Given the description of an element on the screen output the (x, y) to click on. 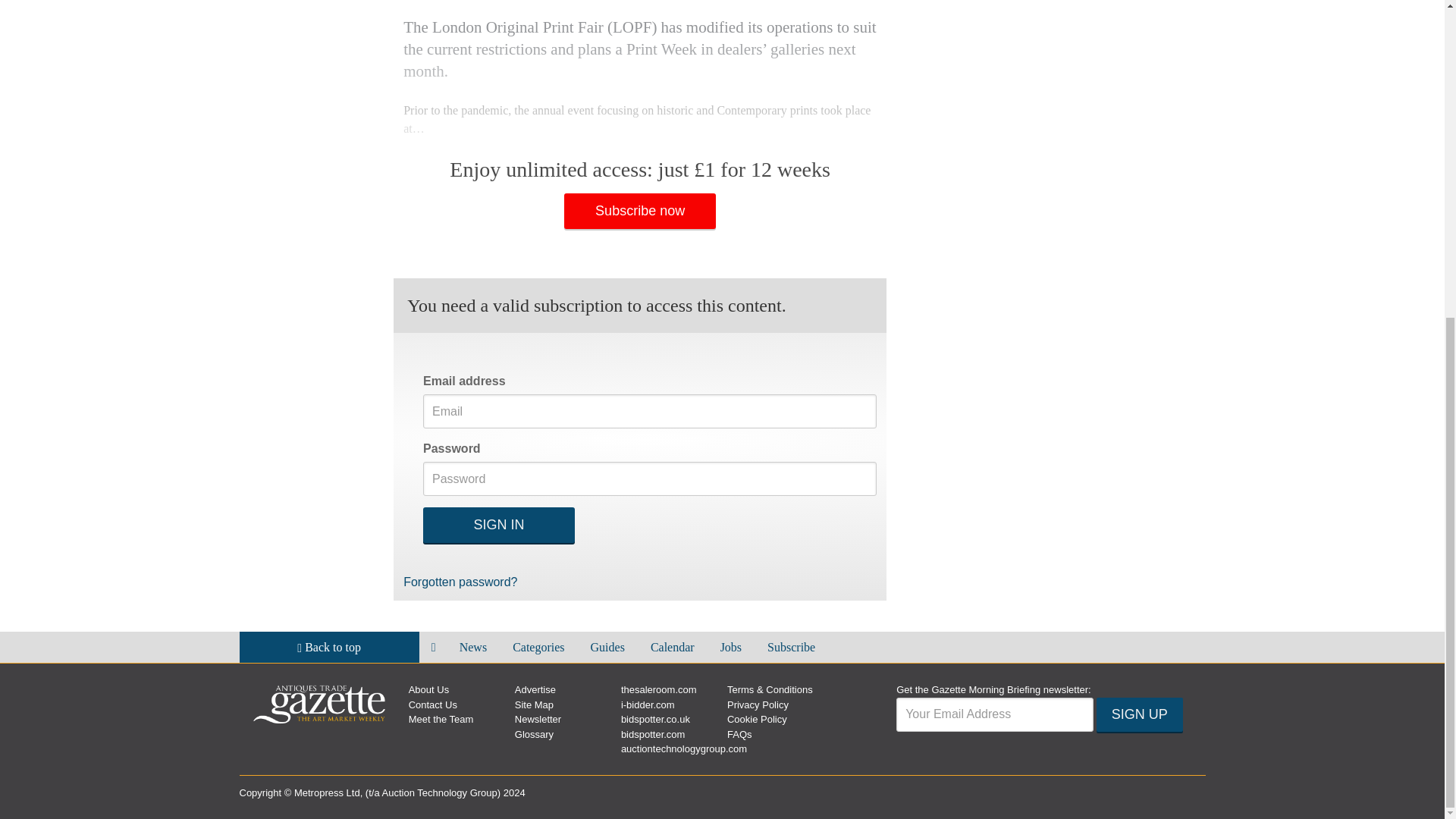
Email address (994, 714)
